Given the description of an element on the screen output the (x, y) to click on. 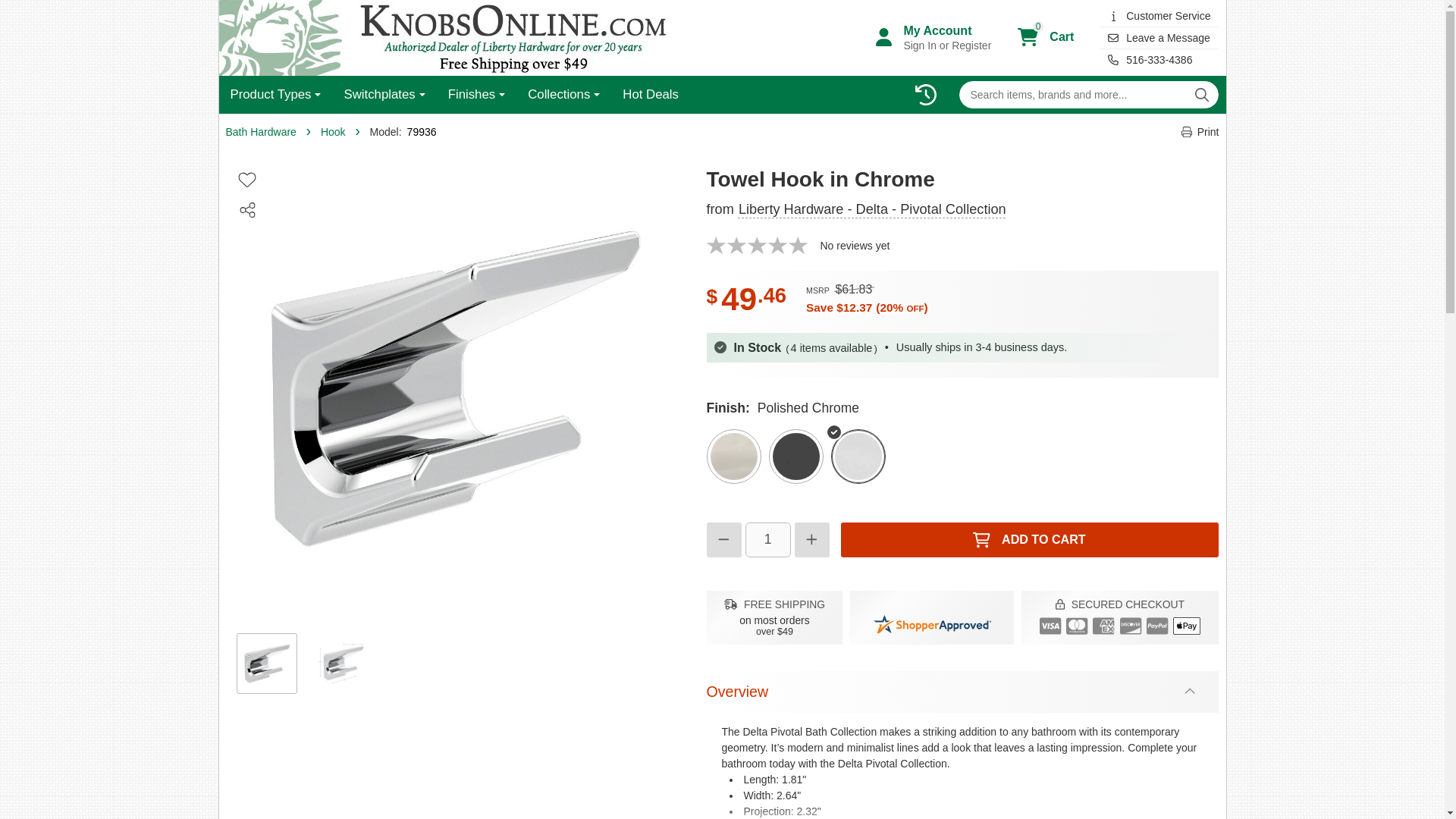
Product Types (274, 94)
Bath Hardware (260, 132)
Leave a Message (1158, 38)
Collections (1043, 37)
Add this product to Project List (563, 94)
ADD TO CART (246, 179)
Customer Service (1028, 539)
Liberty Hardware - Delta - Pivotal Collection (931, 37)
516-333-4386 (1158, 15)
Hot Deals (872, 209)
Print (1158, 59)
Hook (650, 94)
1 (1200, 132)
